Given the description of an element on the screen output the (x, y) to click on. 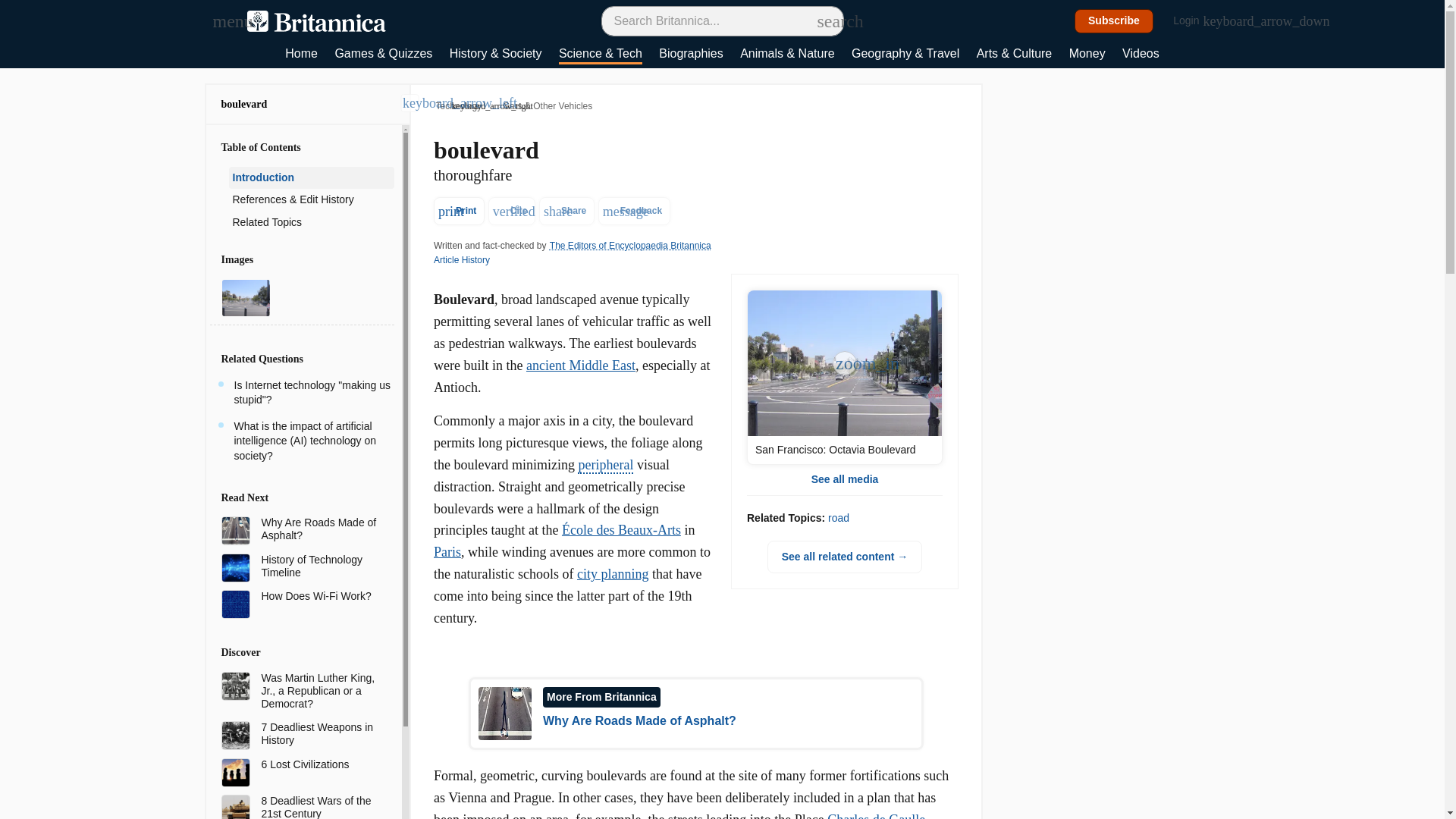
Images (300, 259)
Was Martin Luther King, Jr., a Republican or a Democrat? (320, 690)
Login (1194, 20)
How Does Wi-Fi Work? (320, 595)
boulevard (244, 103)
Money (1086, 54)
History of Technology Timeline (320, 566)
Videos (1140, 54)
Home (301, 54)
Biographies (691, 54)
Subscribe (1114, 21)
Related Topics (311, 222)
Click here to search (825, 20)
Is Internet technology "making us stupid"? (311, 392)
Why Are Roads Made of Asphalt? (320, 529)
